Given the description of an element on the screen output the (x, y) to click on. 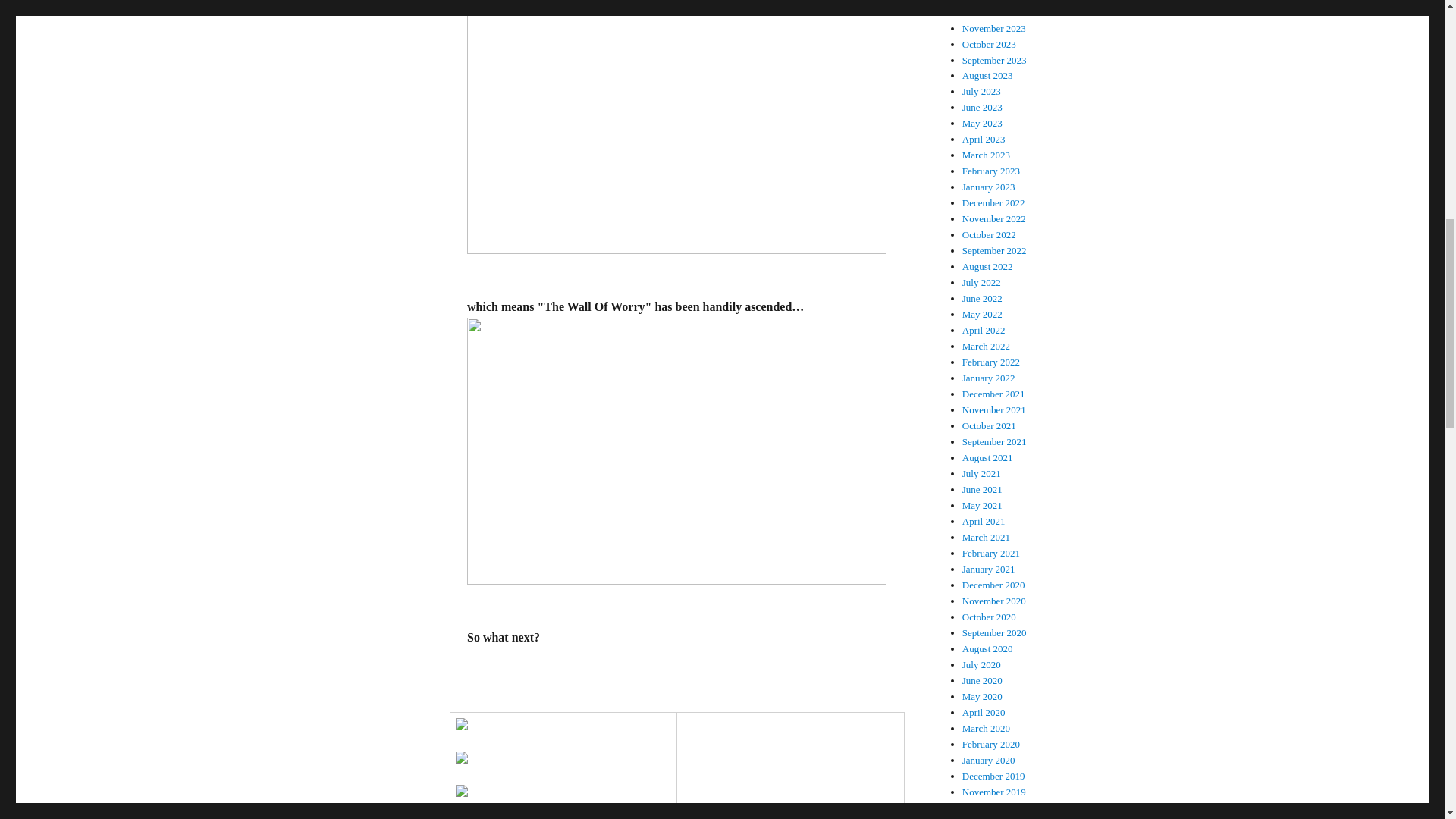
November 2023 (994, 28)
December 2023 (993, 12)
January 2024 (988, 1)
October 2023 (989, 43)
